Given the description of an element on the screen output the (x, y) to click on. 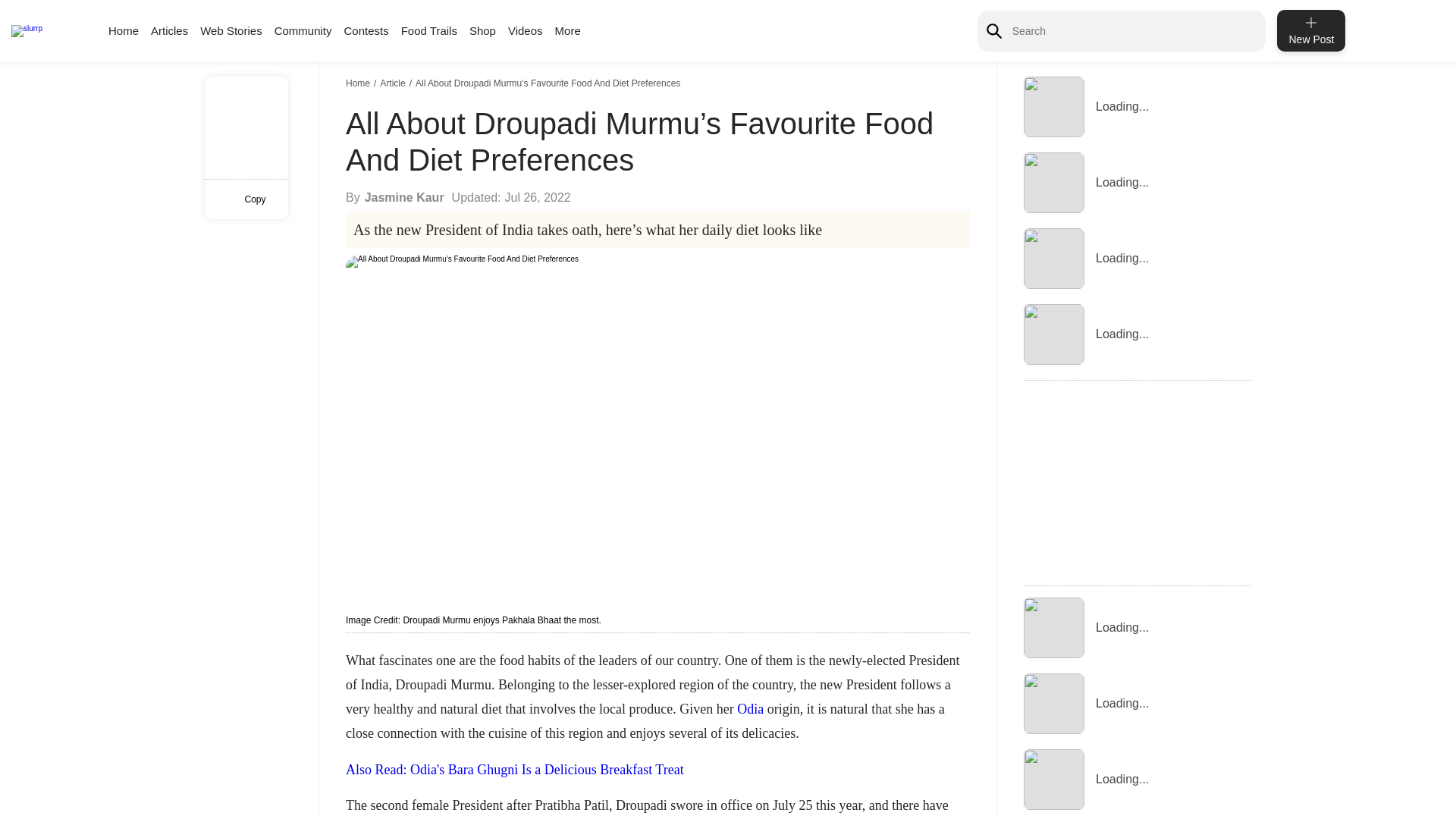
New Post (1310, 30)
Community (303, 30)
Food Trails (429, 30)
Videos (525, 30)
Web Stories (231, 30)
Shop (482, 30)
Article (394, 82)
Articles (169, 30)
Home (122, 30)
Contests (365, 30)
Home (360, 82)
